Given the description of an element on the screen output the (x, y) to click on. 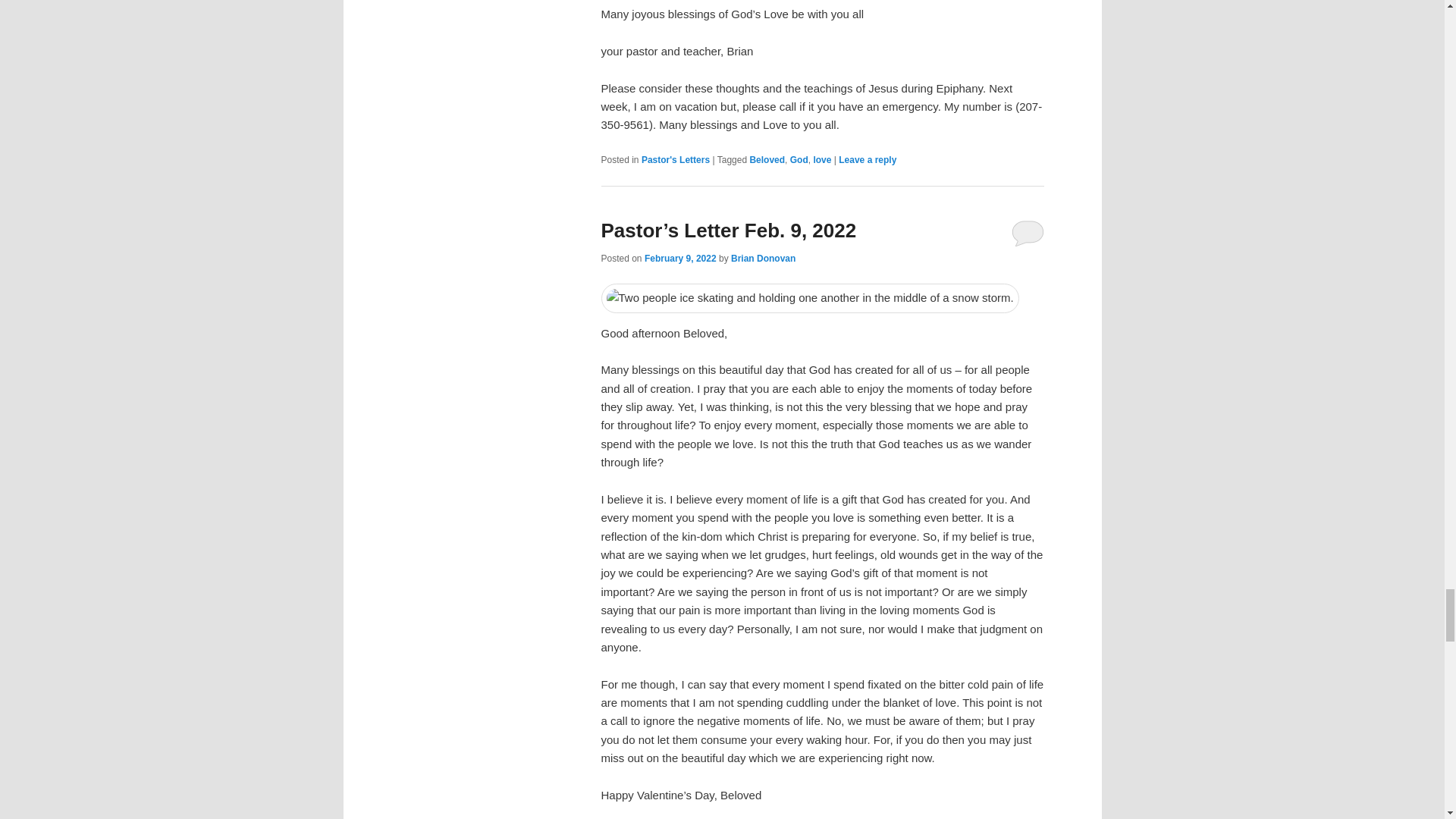
12:31 pm (680, 258)
View all posts by Brian Donovan (762, 258)
